Given the description of an element on the screen output the (x, y) to click on. 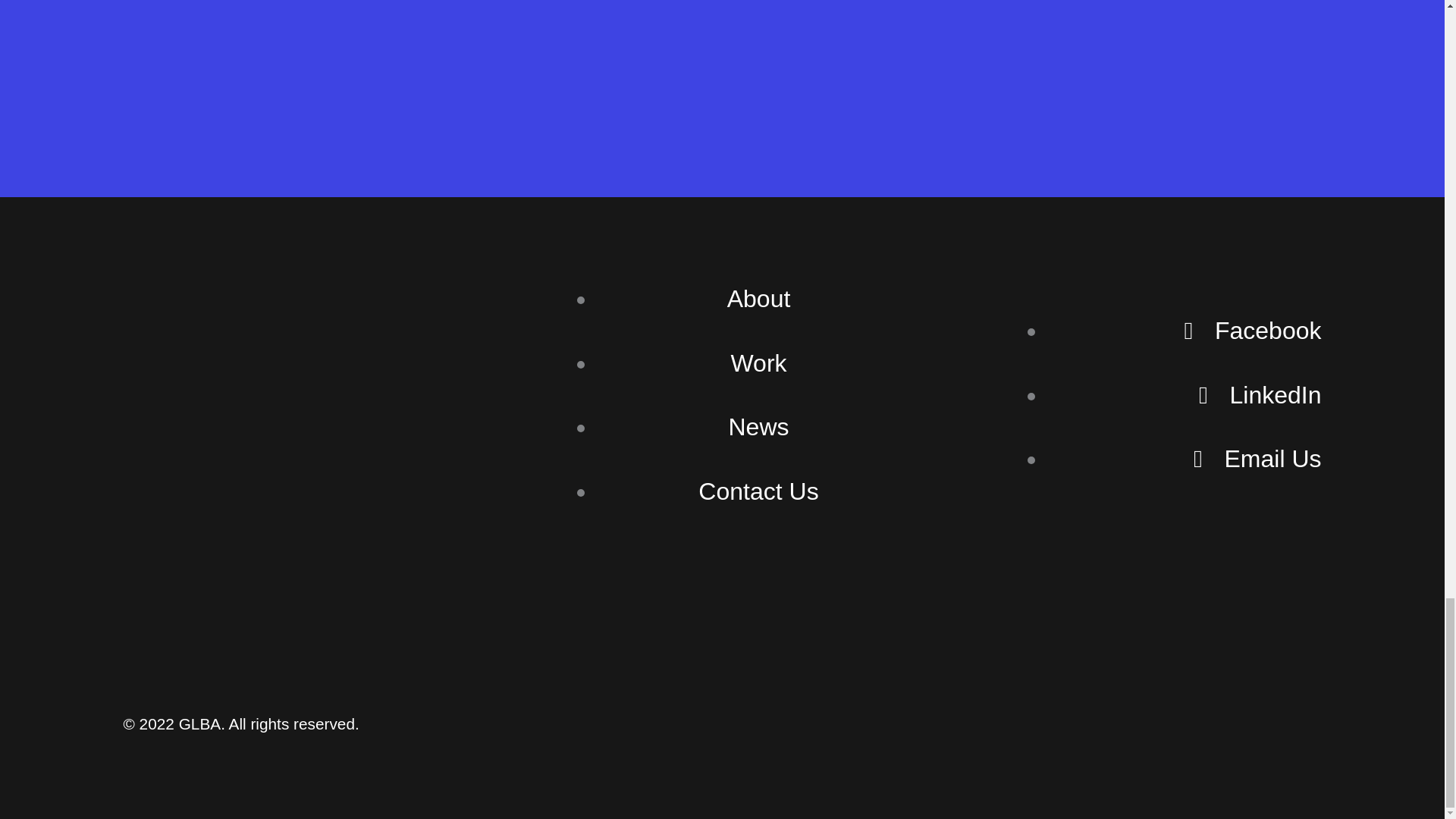
News (758, 426)
LinkedIn (1260, 394)
Work (758, 362)
Facebook (1251, 329)
About (758, 298)
Contact Us (758, 491)
Email Us (1257, 458)
